Given the description of an element on the screen output the (x, y) to click on. 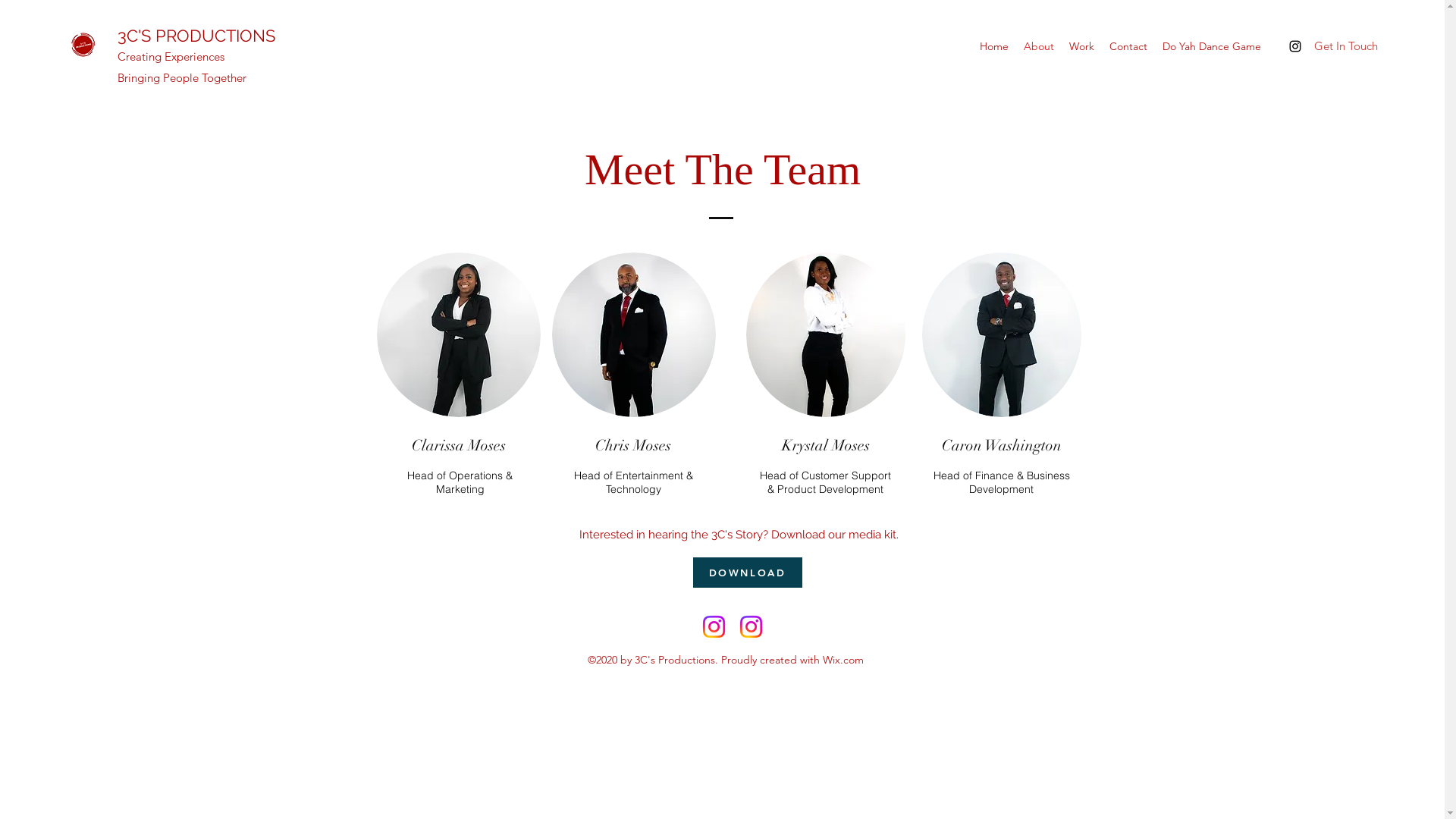
Work Element type: text (1081, 45)
guy2.jpg Element type: hover (457, 334)
Get In Touch Element type: text (1345, 45)
Contact Element type: text (1127, 45)
guy3.jpg Element type: hover (1001, 334)
guy4.jpg Element type: hover (633, 334)
guy3.jpg Element type: hover (825, 334)
Home Element type: text (994, 45)
About Element type: text (1038, 45)
Do Yah Dance Game Element type: text (1211, 45)
DOWNLOAD Element type: text (747, 572)
3C'S PRODUCTIONS Element type: text (196, 35)
